Given the description of an element on the screen output the (x, y) to click on. 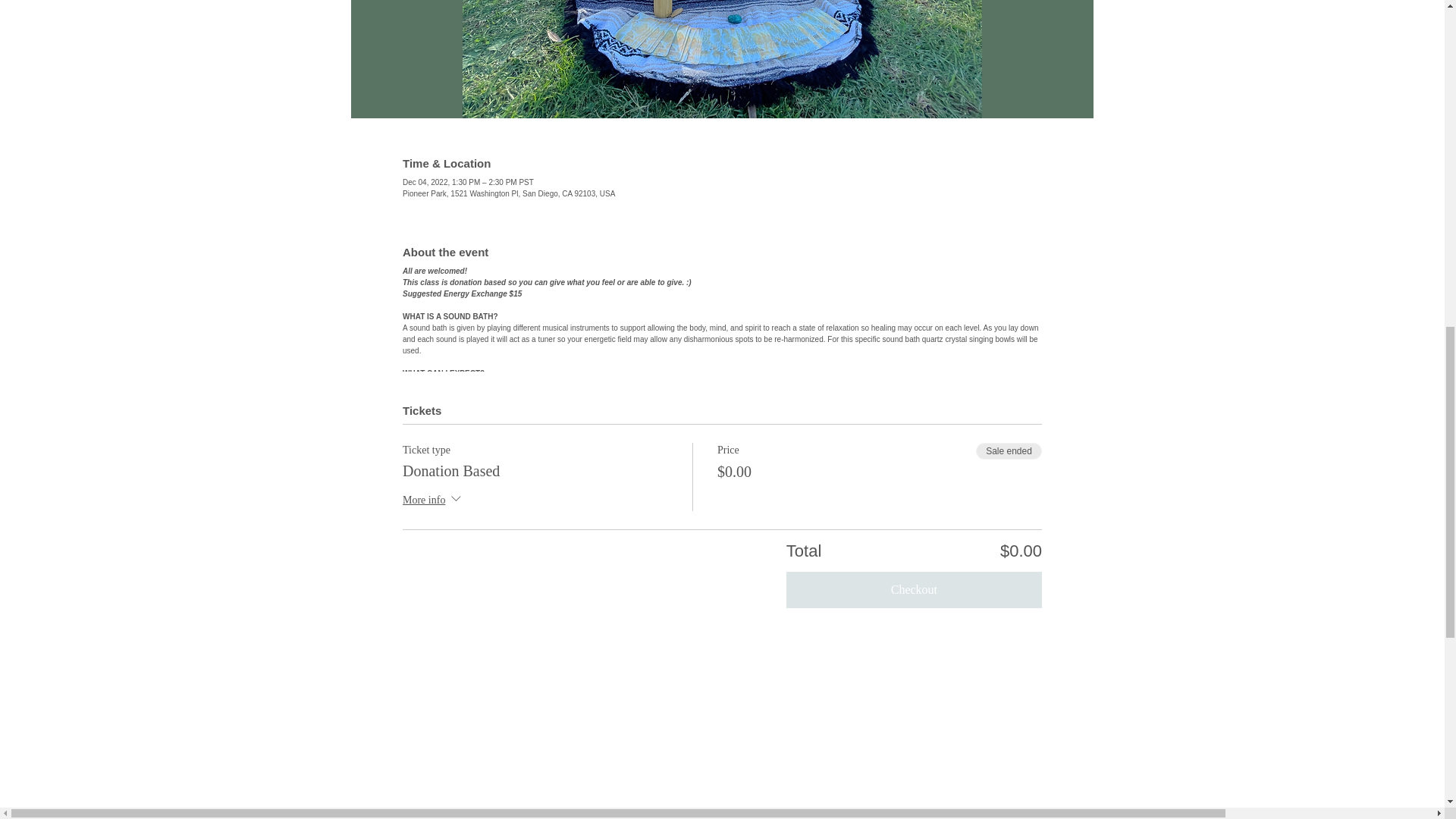
More info (433, 500)
Checkout (914, 589)
